Given the description of an element on the screen output the (x, y) to click on. 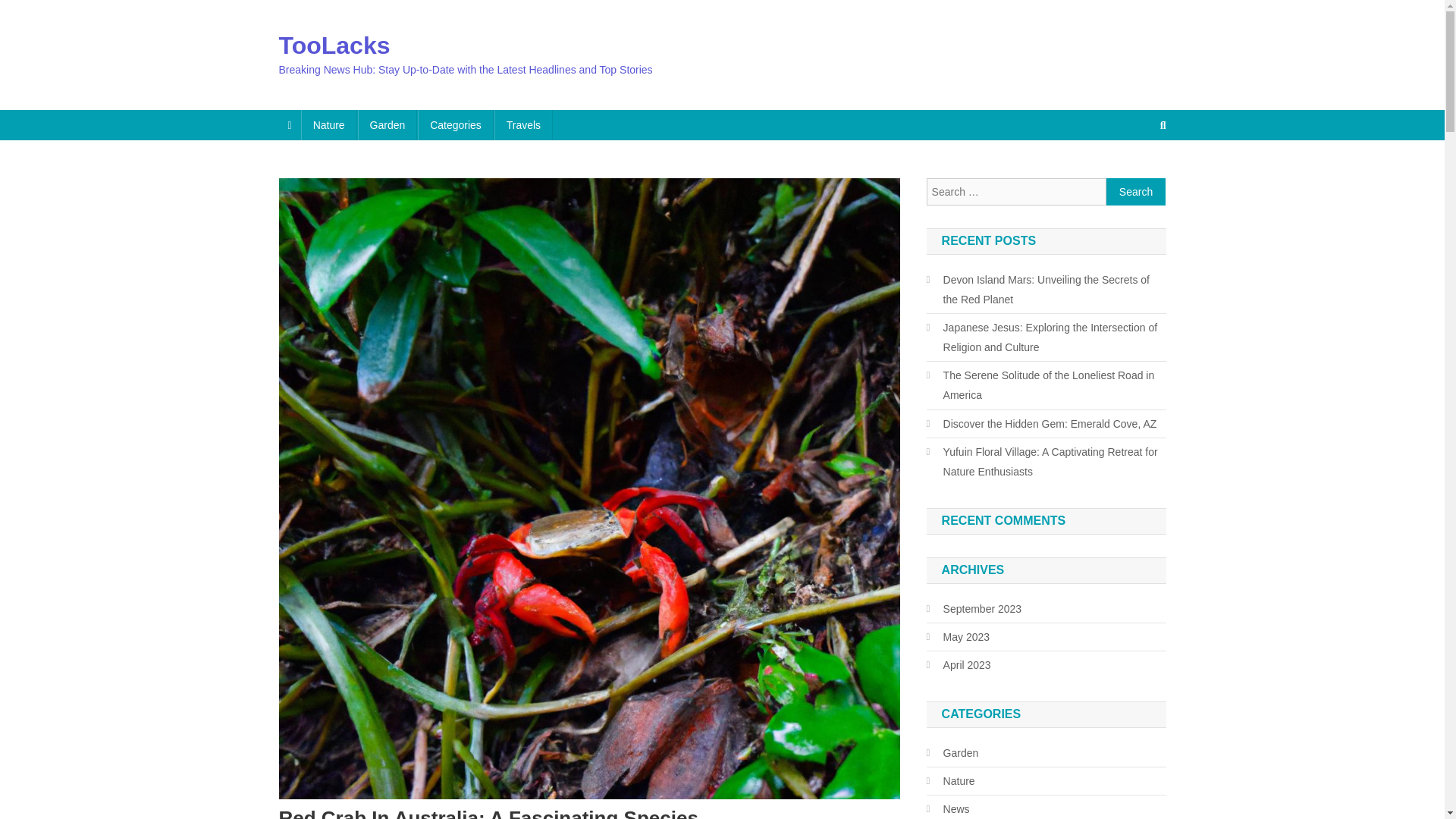
April 2023 (958, 664)
TooLacks (334, 44)
Discover the Hidden Gem: Emerald Cove, AZ (1041, 424)
Nature (328, 124)
Devon Island Mars: Unveiling the Secrets of the Red Planet (1046, 289)
Search (1136, 191)
Search (1133, 175)
Categories (455, 124)
